Given the description of an element on the screen output the (x, y) to click on. 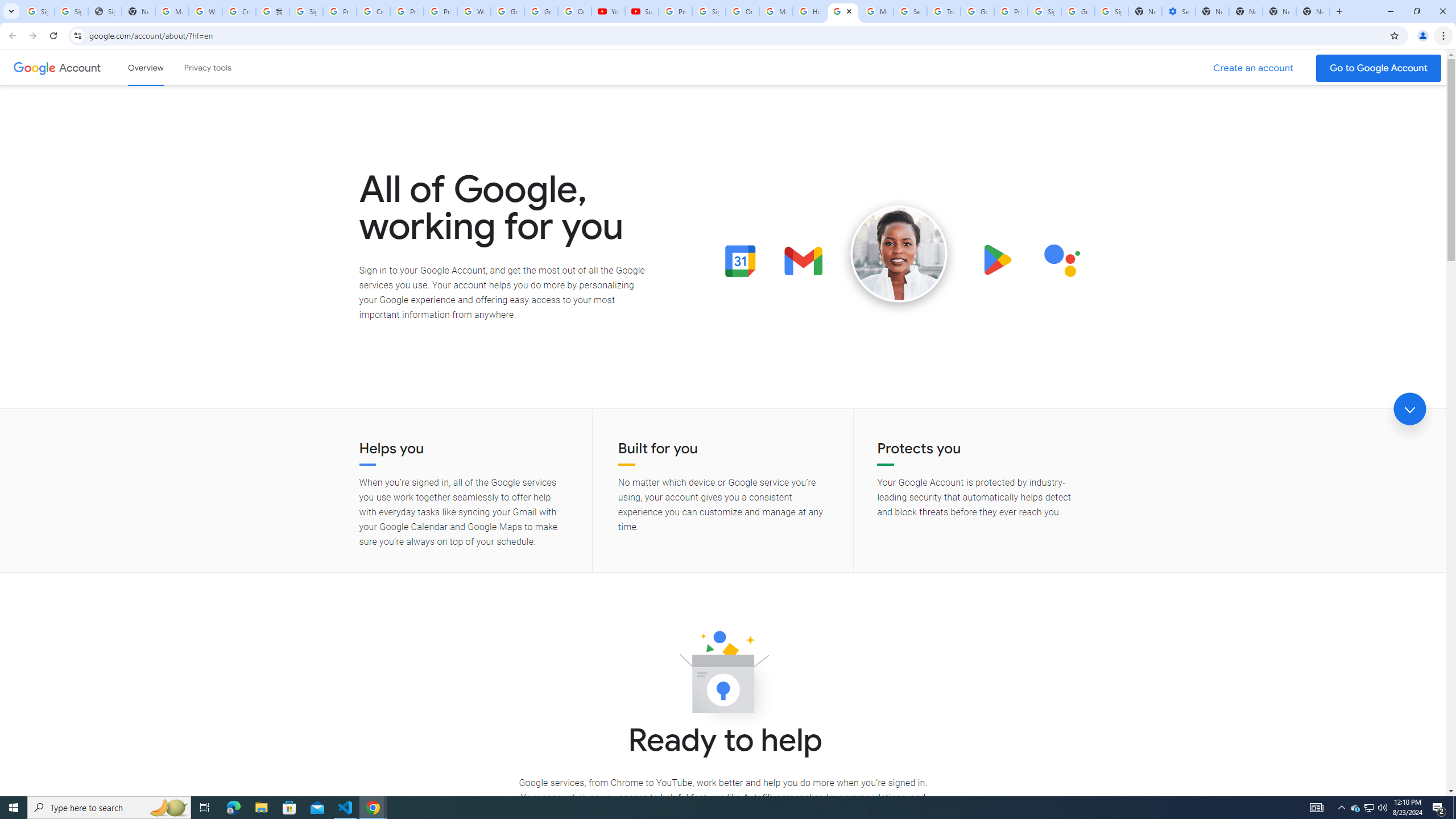
Google logo (34, 67)
Welcome to My Activity (474, 11)
Google Cybersecurity Innovations - Google Safety Center (1077, 11)
Subscriptions - YouTube (641, 11)
Jump link (1409, 408)
Trusted Information and Content - Google Safety Center (943, 11)
Go to your Google Account (1378, 67)
